Given the description of an element on the screen output the (x, y) to click on. 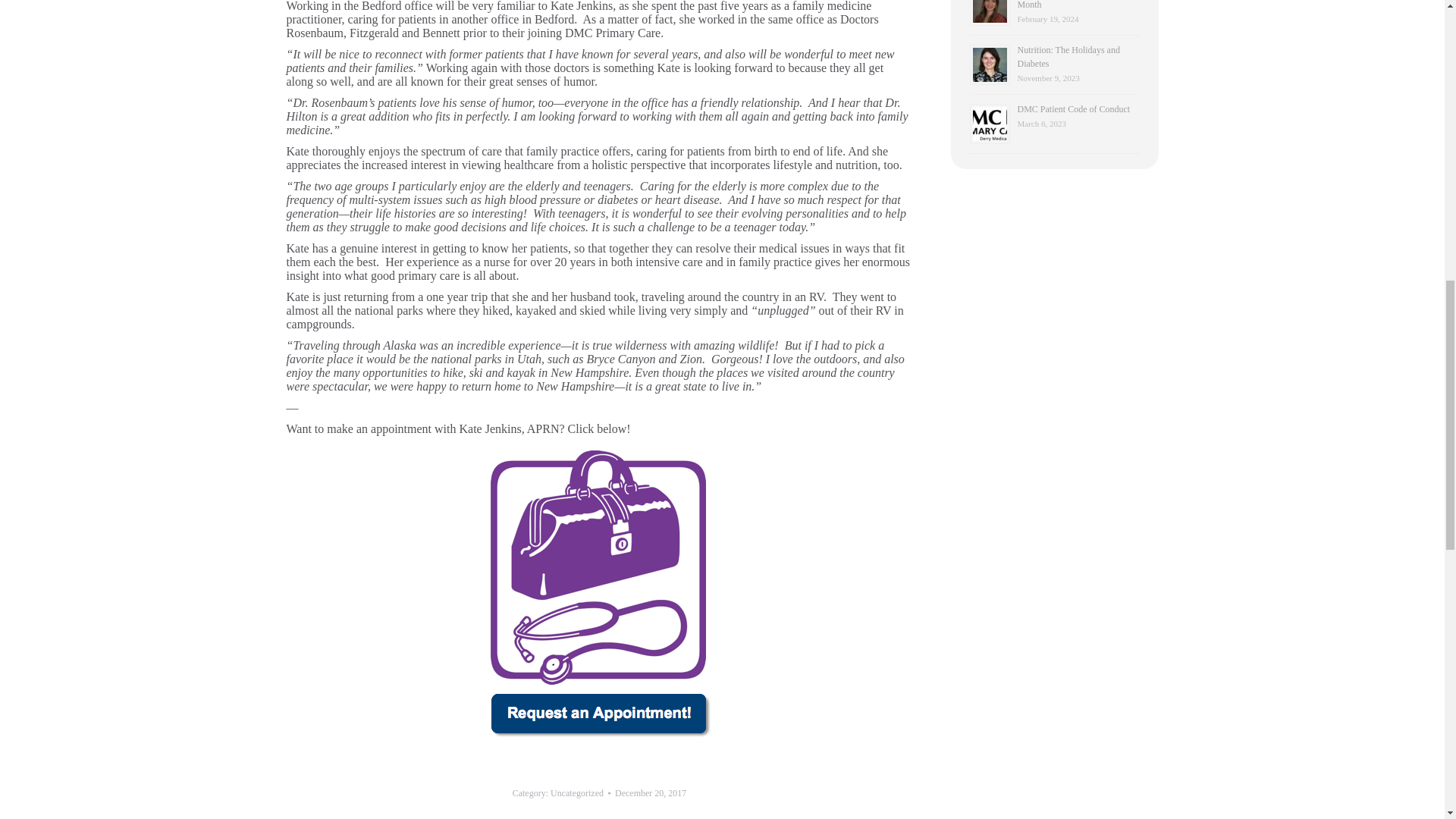
Permalink to Healthy Recipes for Heart Health Month (1078, 4)
Permalink to Nutrition: The Holidays and Diabetes (1068, 56)
Permalink to DMC Patient Code of Conduct (1074, 109)
9:27 pm (649, 792)
